Given the description of an element on the screen output the (x, y) to click on. 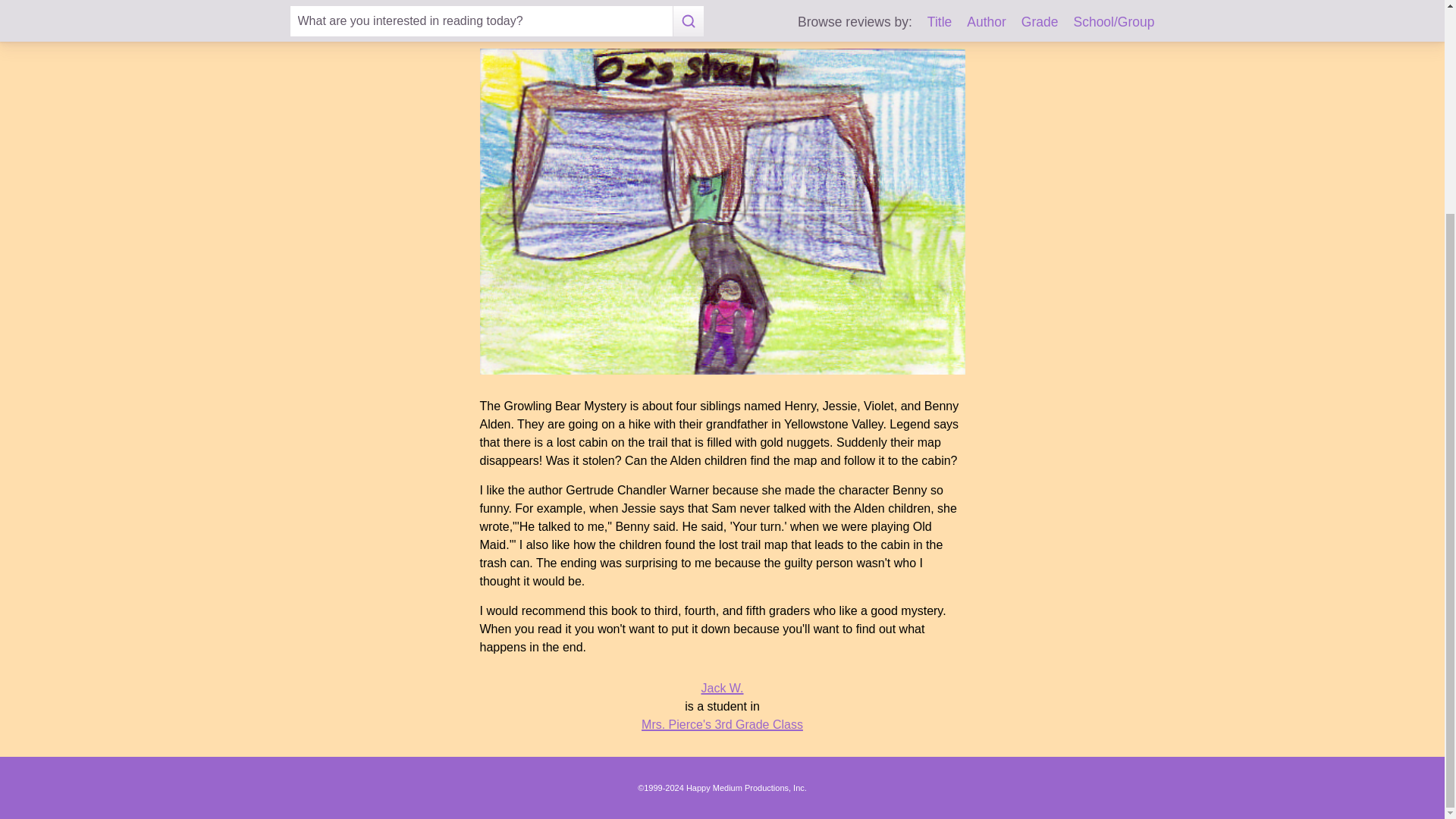
Mrs. Pierce's 3rd Grade Class (722, 724)
Jack W. (721, 687)
